Given the description of an element on the screen output the (x, y) to click on. 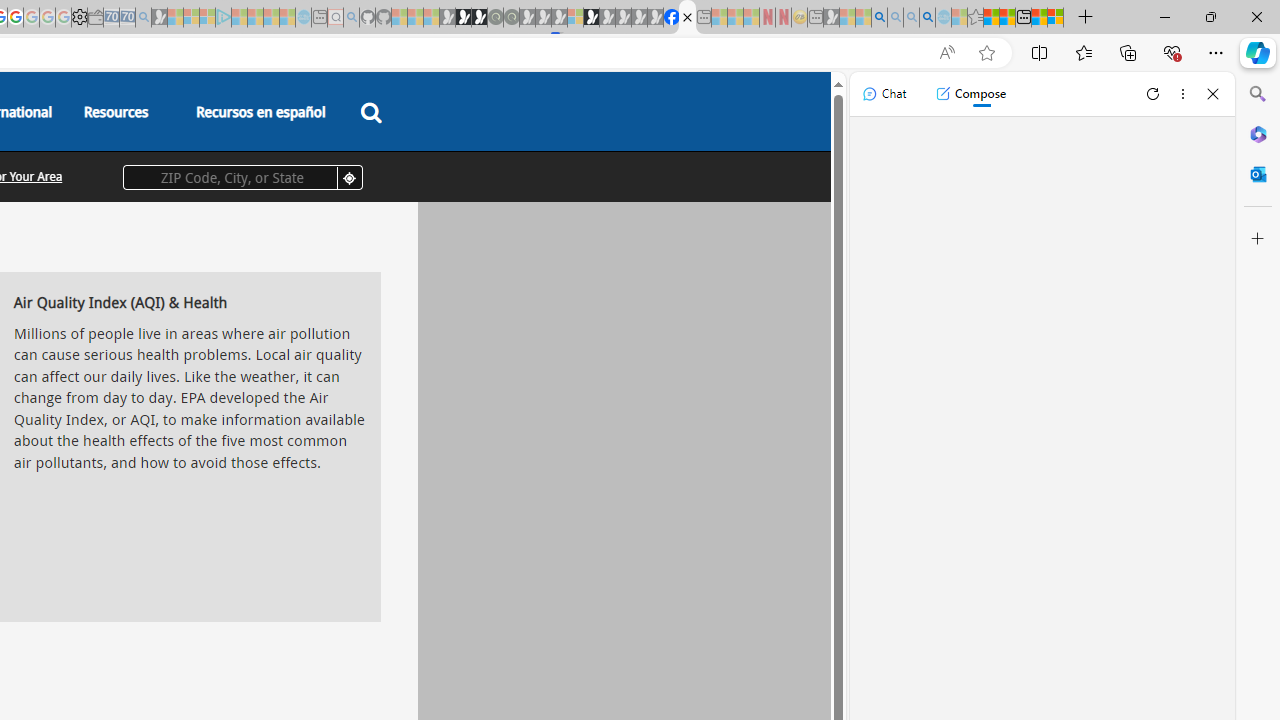
Favorites - Sleeping (975, 17)
